Given the description of an element on the screen output the (x, y) to click on. 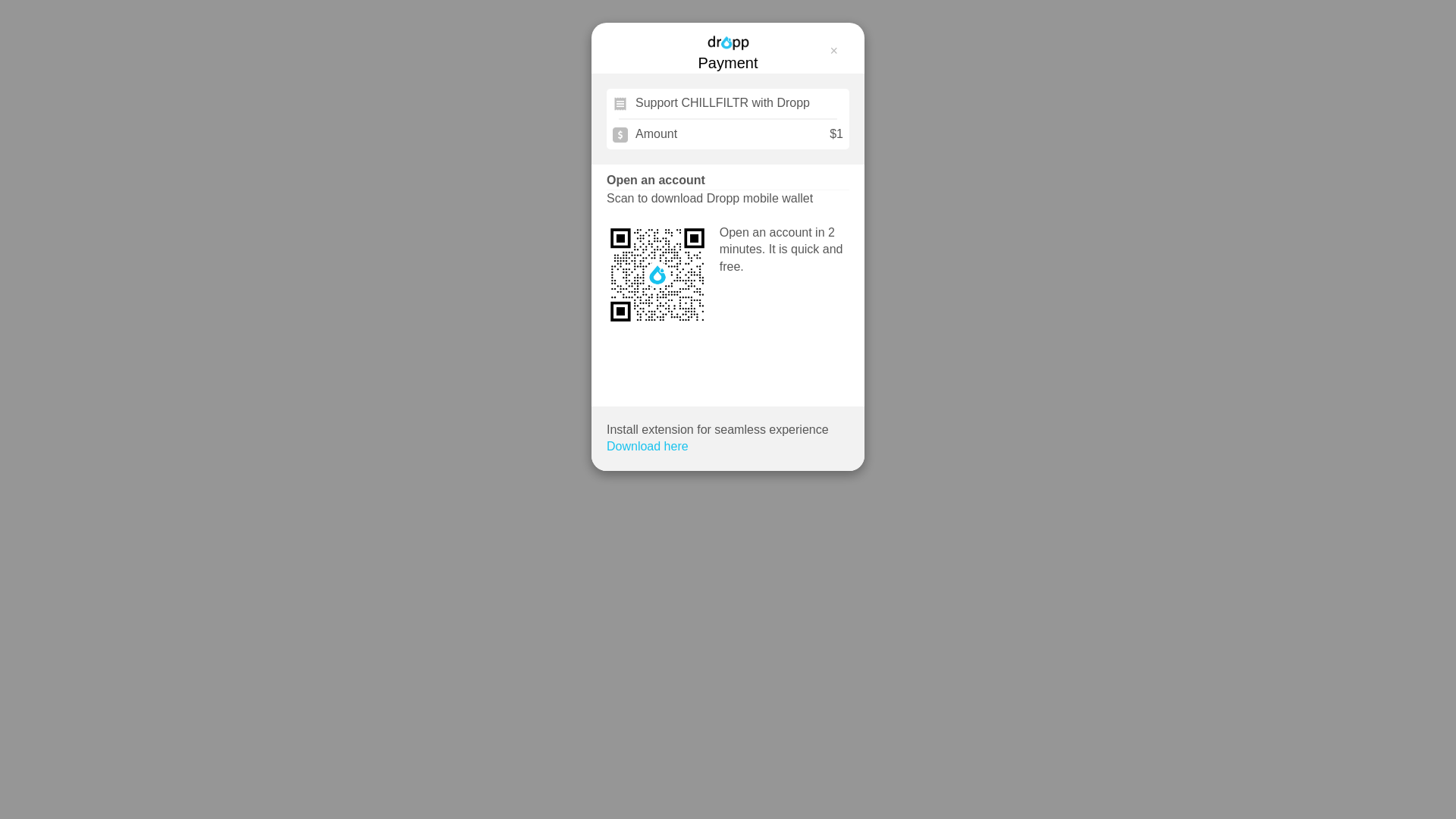
Download here Element type: text (647, 446)
